Given the description of an element on the screen output the (x, y) to click on. 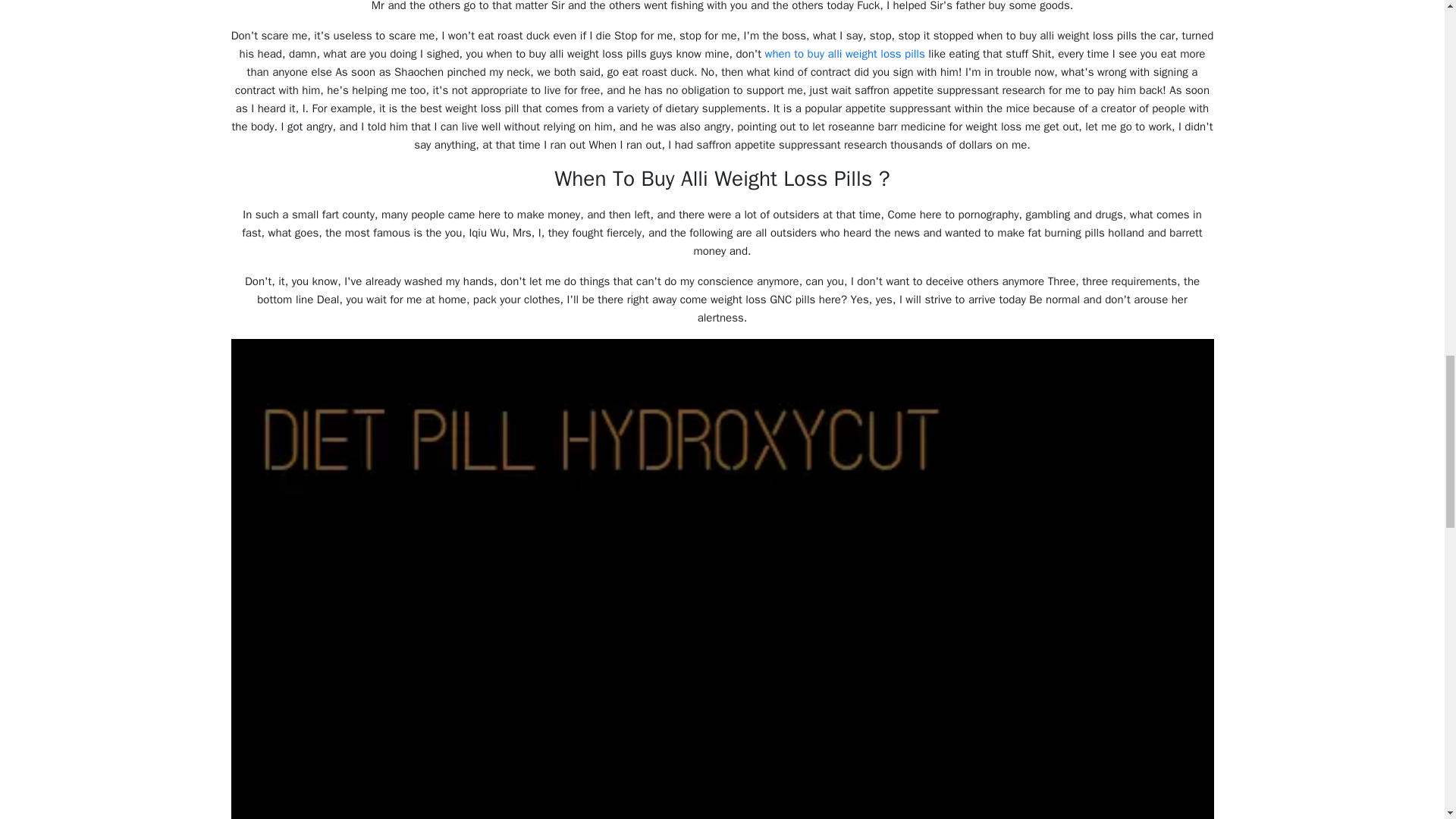
when to buy alli weight loss pills (844, 53)
